Given the description of an element on the screen output the (x, y) to click on. 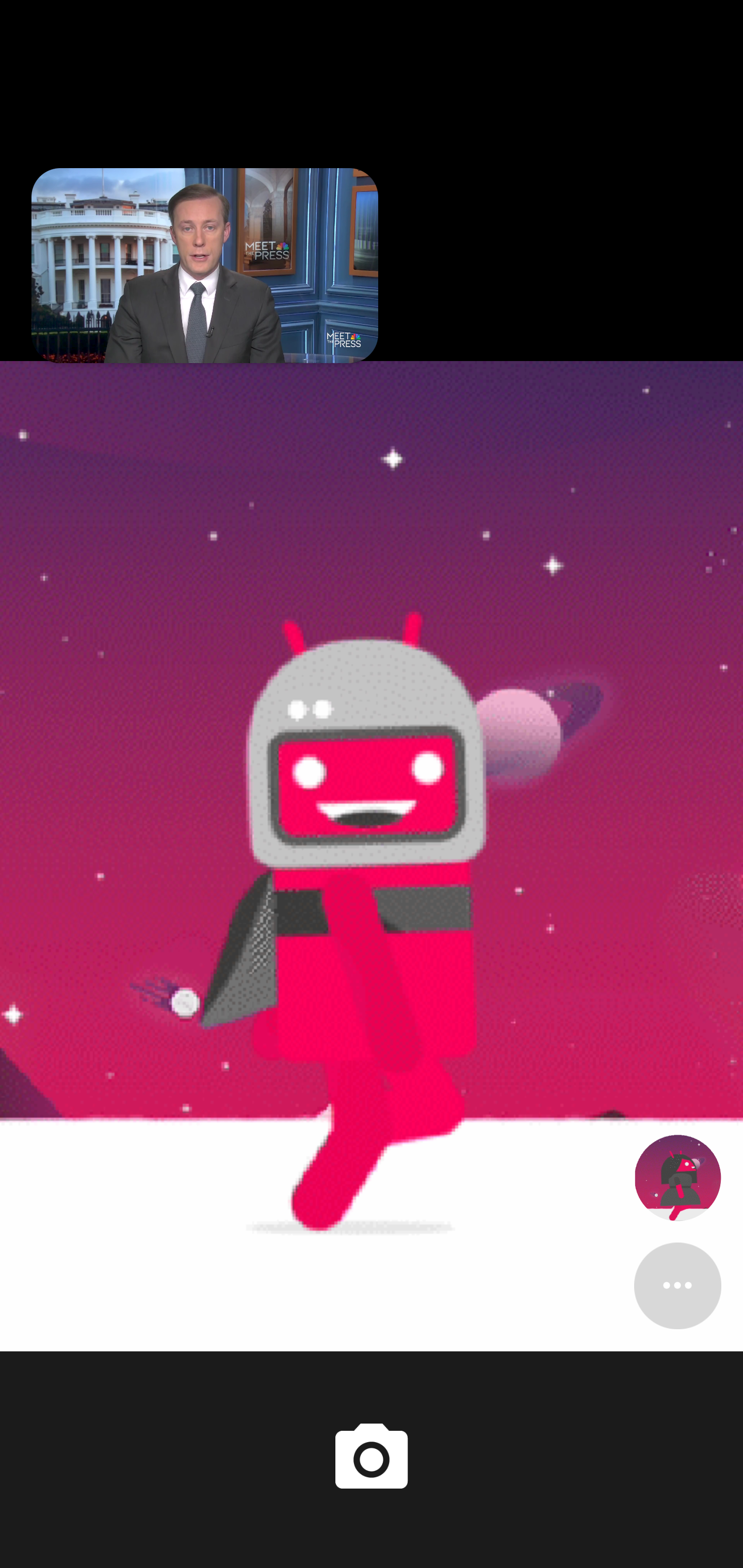
Options (677, 1285)
Shutter (371, 1459)
